Given the description of an element on the screen output the (x, y) to click on. 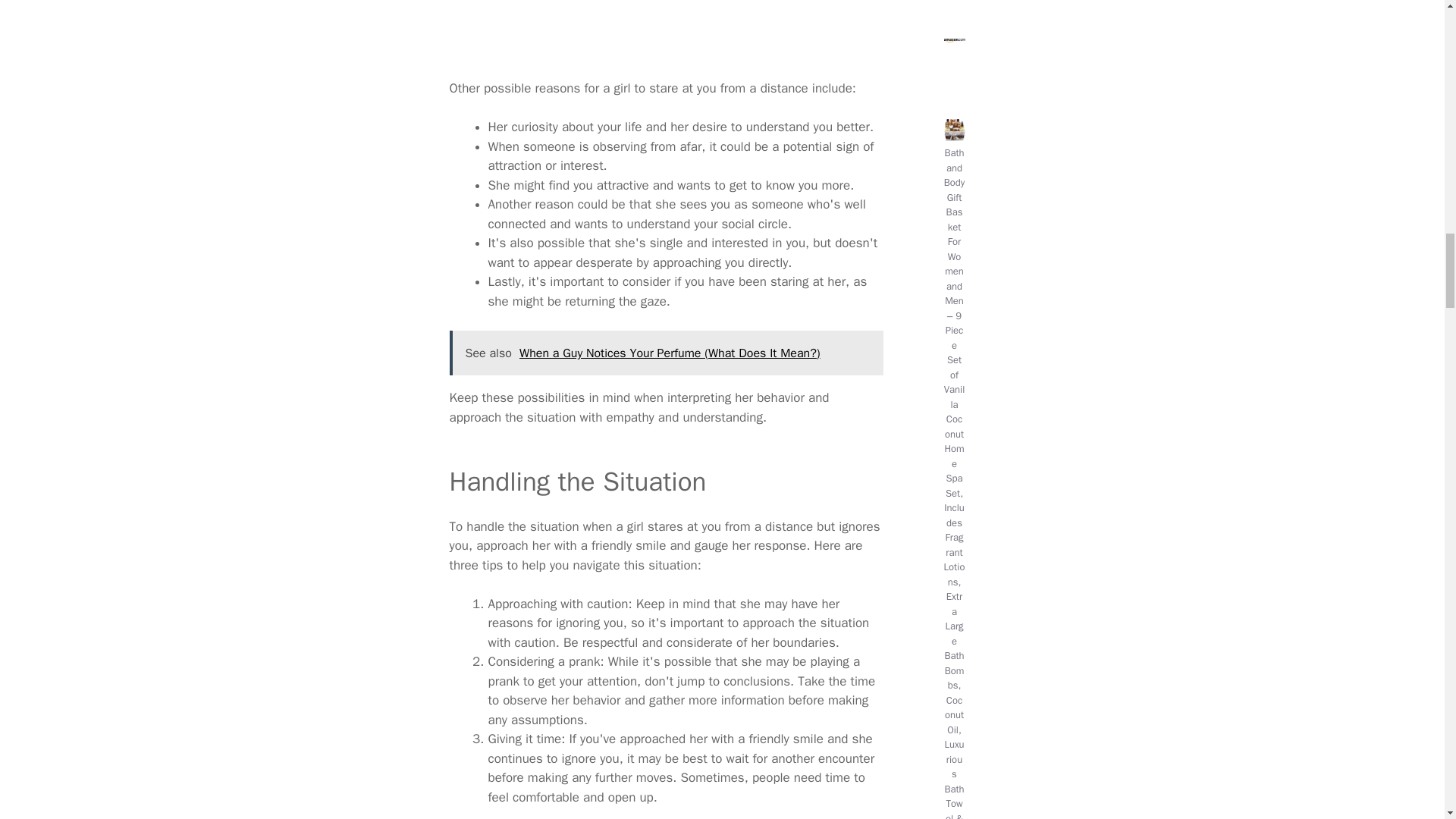
YouTube video player (665, 32)
